Given the description of an element on the screen output the (x, y) to click on. 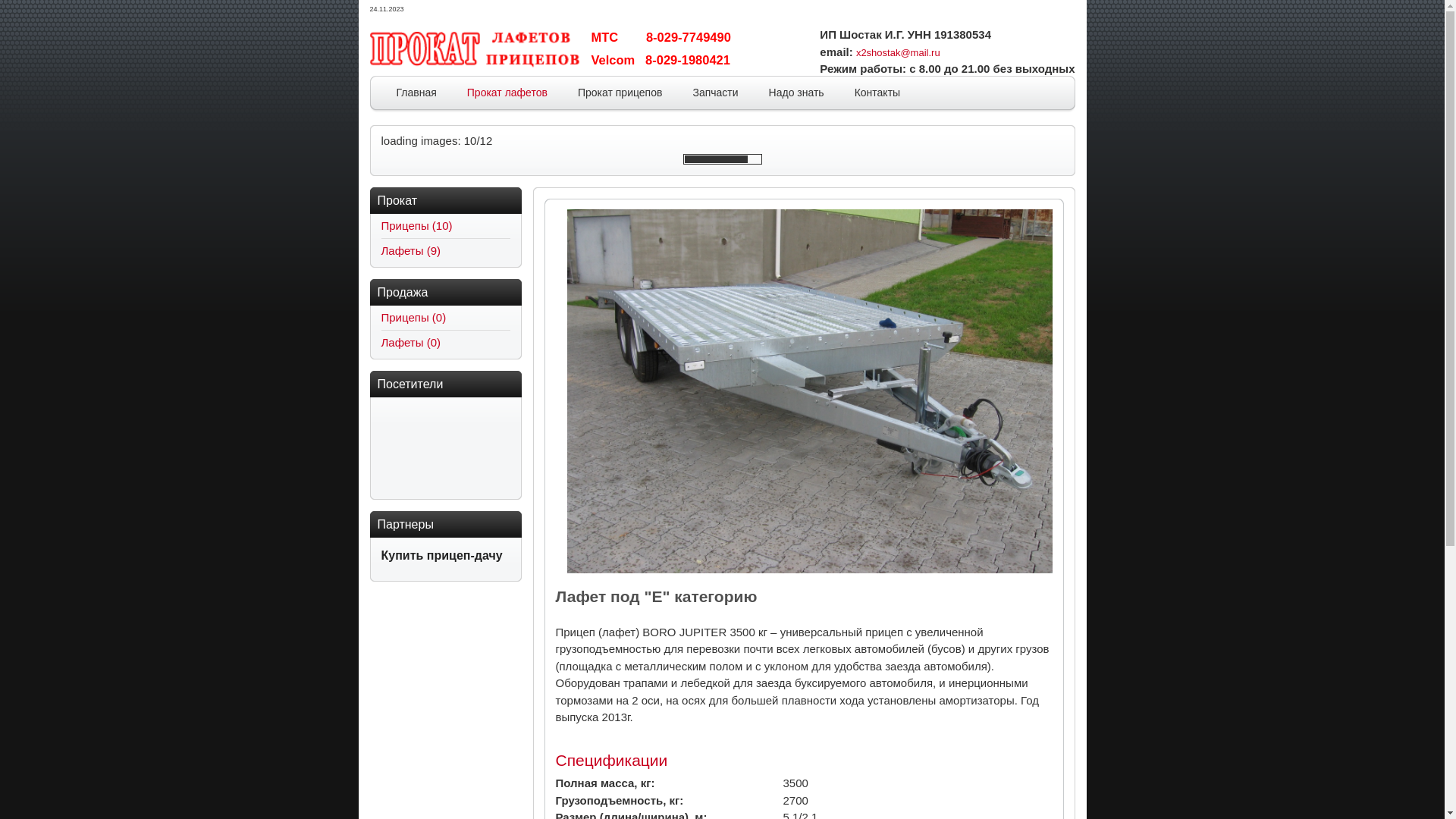
  Element type: text (941, 52)
x2shostak@mail.ru Element type: text (898, 52)
